Given the description of an element on the screen output the (x, y) to click on. 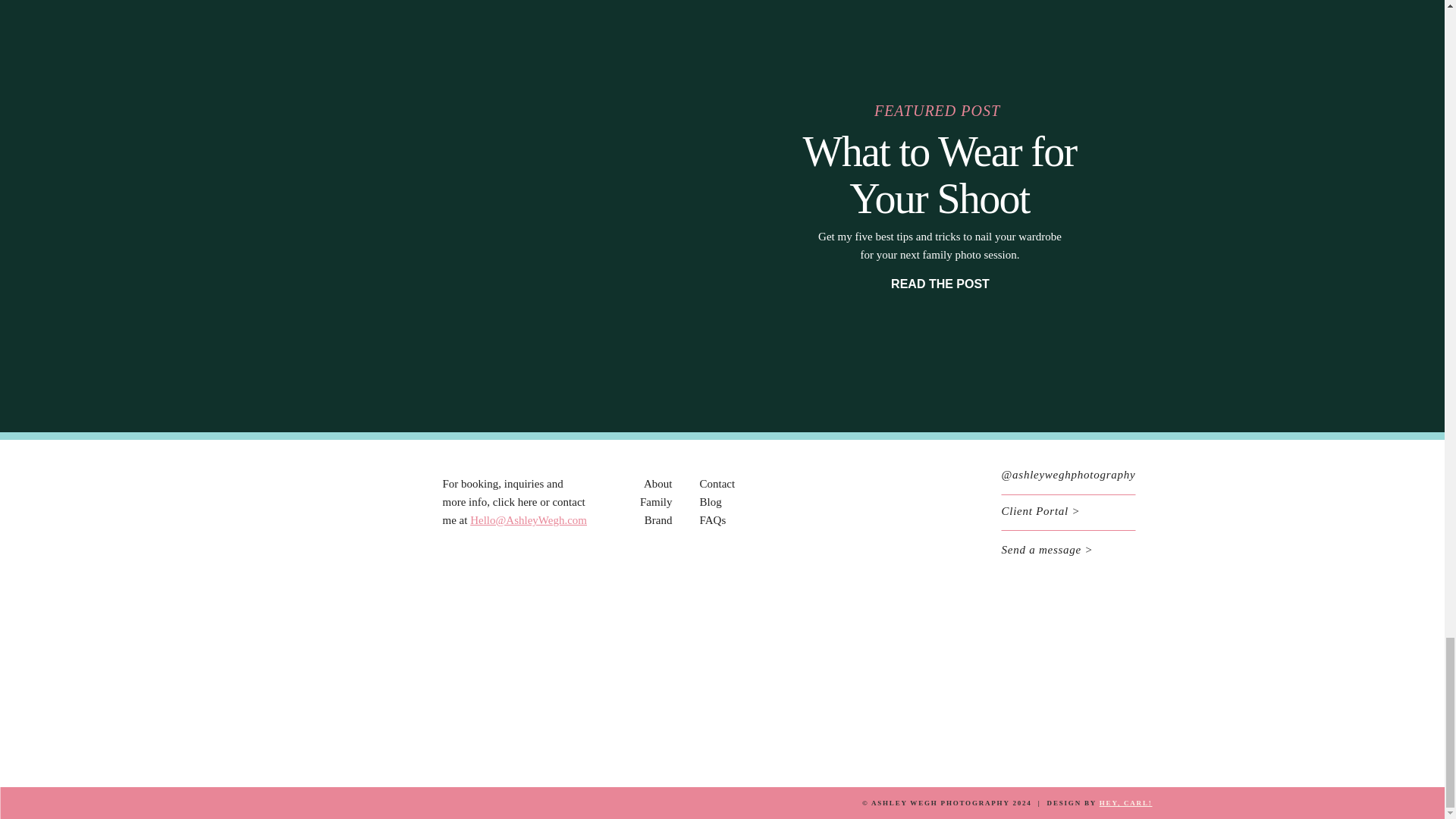
Family (656, 501)
HEY, CARL! (1126, 802)
Contact (716, 483)
FAQs (711, 520)
About (657, 483)
FEATURED POST (936, 106)
Blog (709, 501)
Brand (658, 520)
READ THE POST (940, 284)
